Given the description of an element on the screen output the (x, y) to click on. 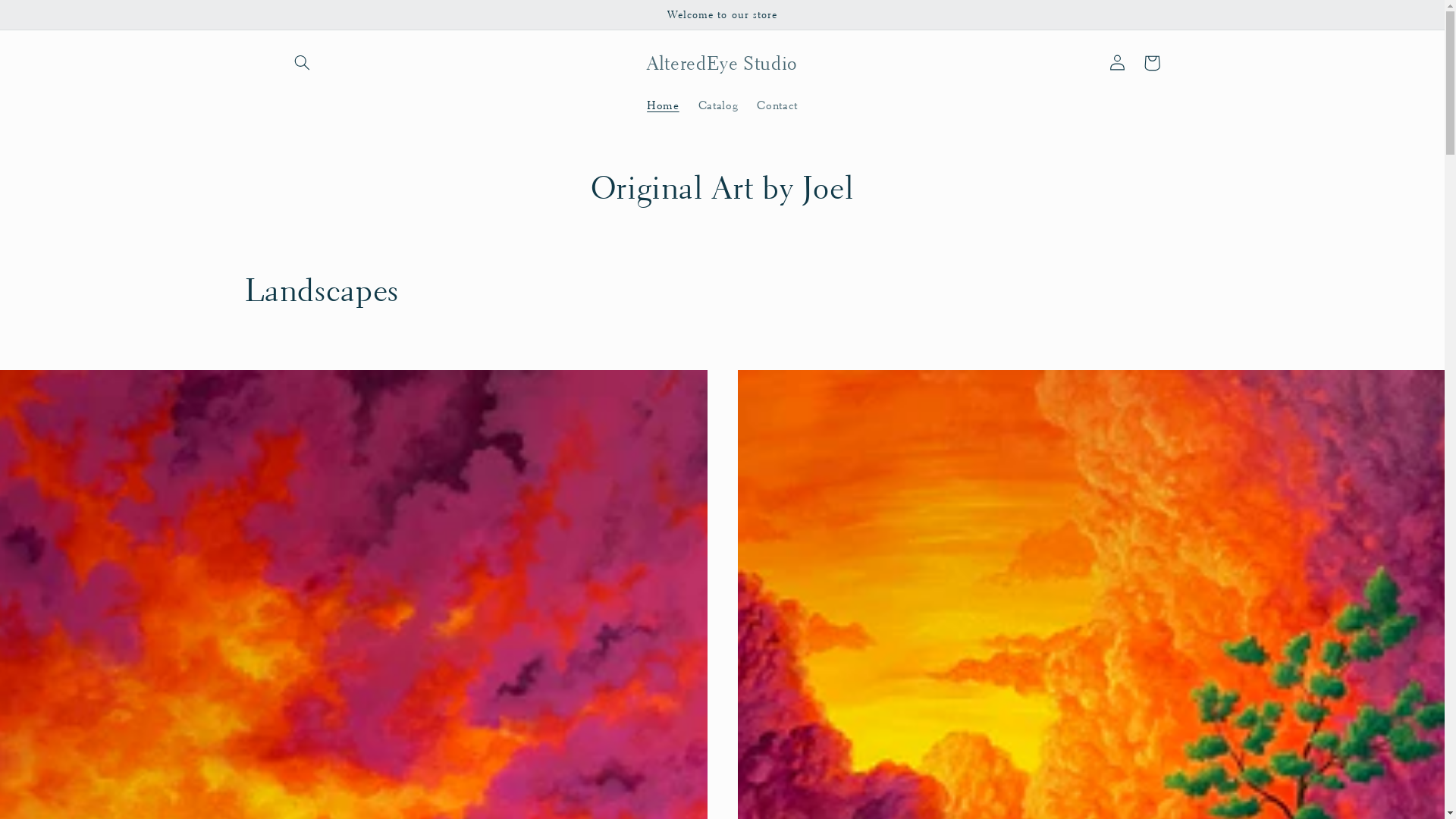
Home Element type: text (663, 105)
Log in Element type: text (1116, 62)
Catalog Element type: text (717, 105)
AlteredEye Studio Element type: text (721, 62)
Contact Element type: text (777, 105)
Cart Element type: text (1151, 62)
